Given the description of an element on the screen output the (x, y) to click on. 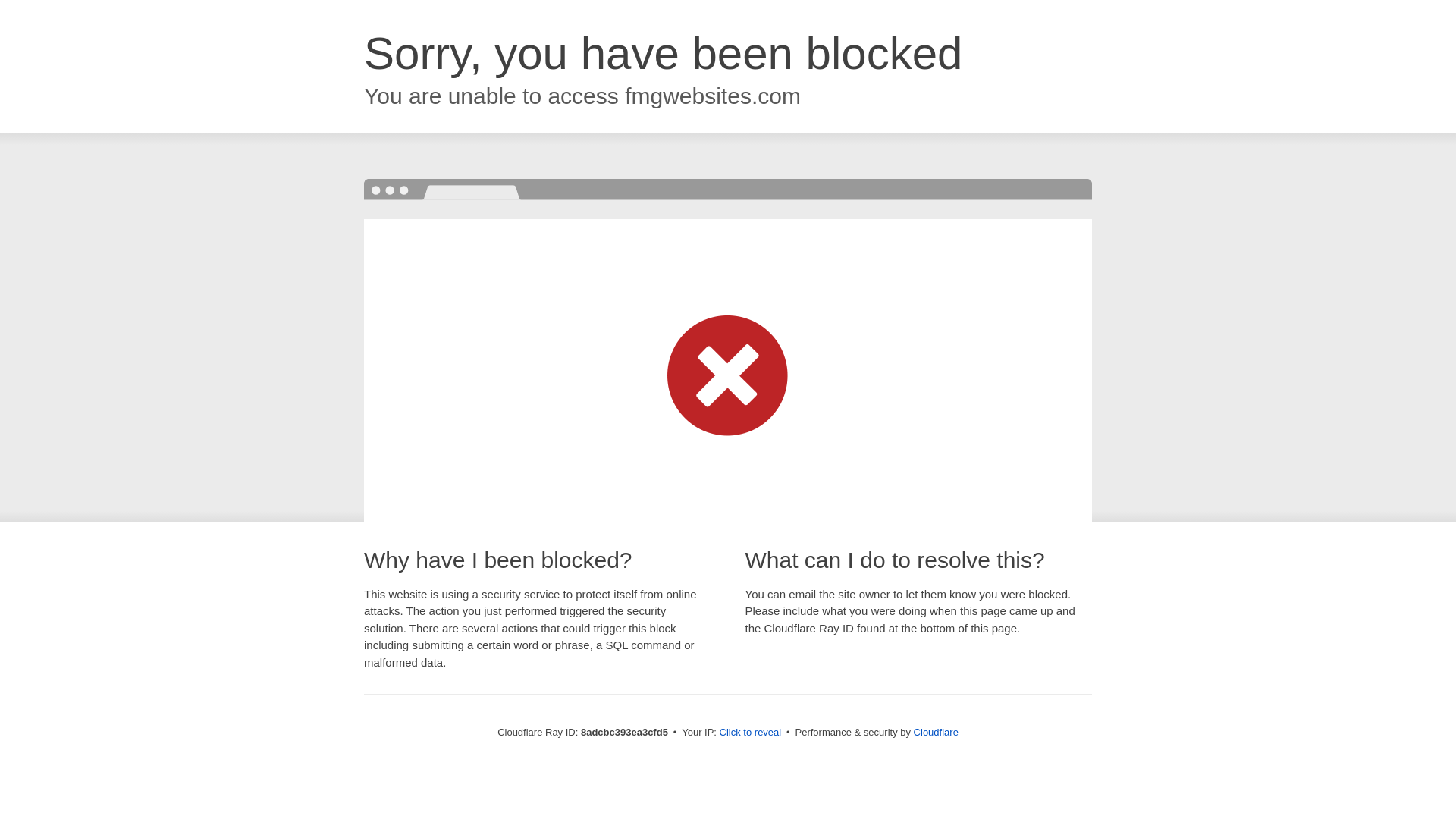
Click to reveal (750, 732)
Cloudflare (936, 731)
